Given the description of an element on the screen output the (x, y) to click on. 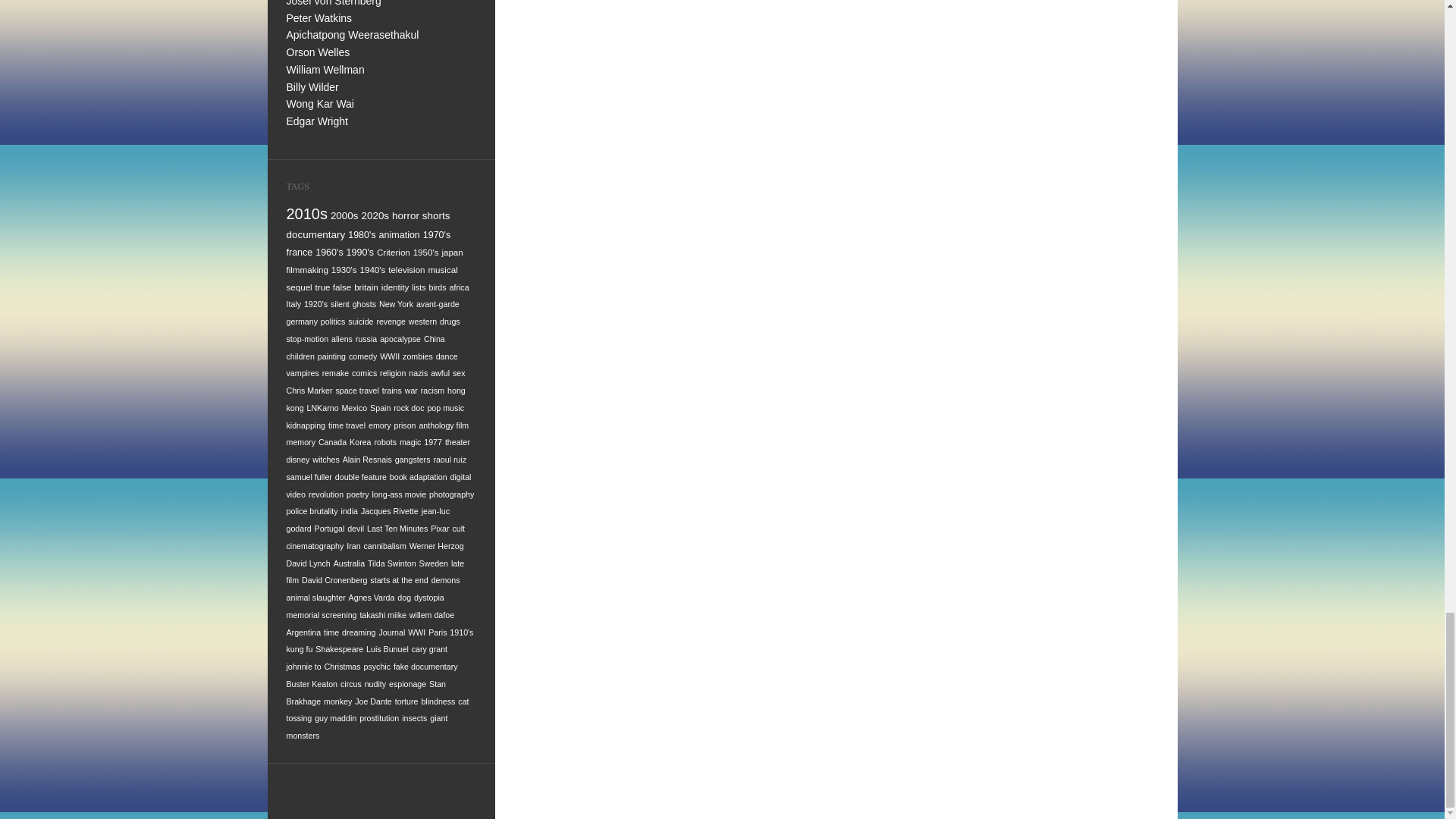
208 topics (393, 252)
971 topics (307, 213)
323 topics (435, 215)
319 topics (316, 234)
341 topics (374, 215)
274 topics (399, 235)
196 topics (426, 252)
162 topics (307, 269)
167 topics (452, 252)
269 topics (437, 235)
288 topics (361, 235)
352 topics (344, 215)
338 topics (405, 215)
254 topics (299, 252)
241 topics (360, 252)
